Given the description of an element on the screen output the (x, y) to click on. 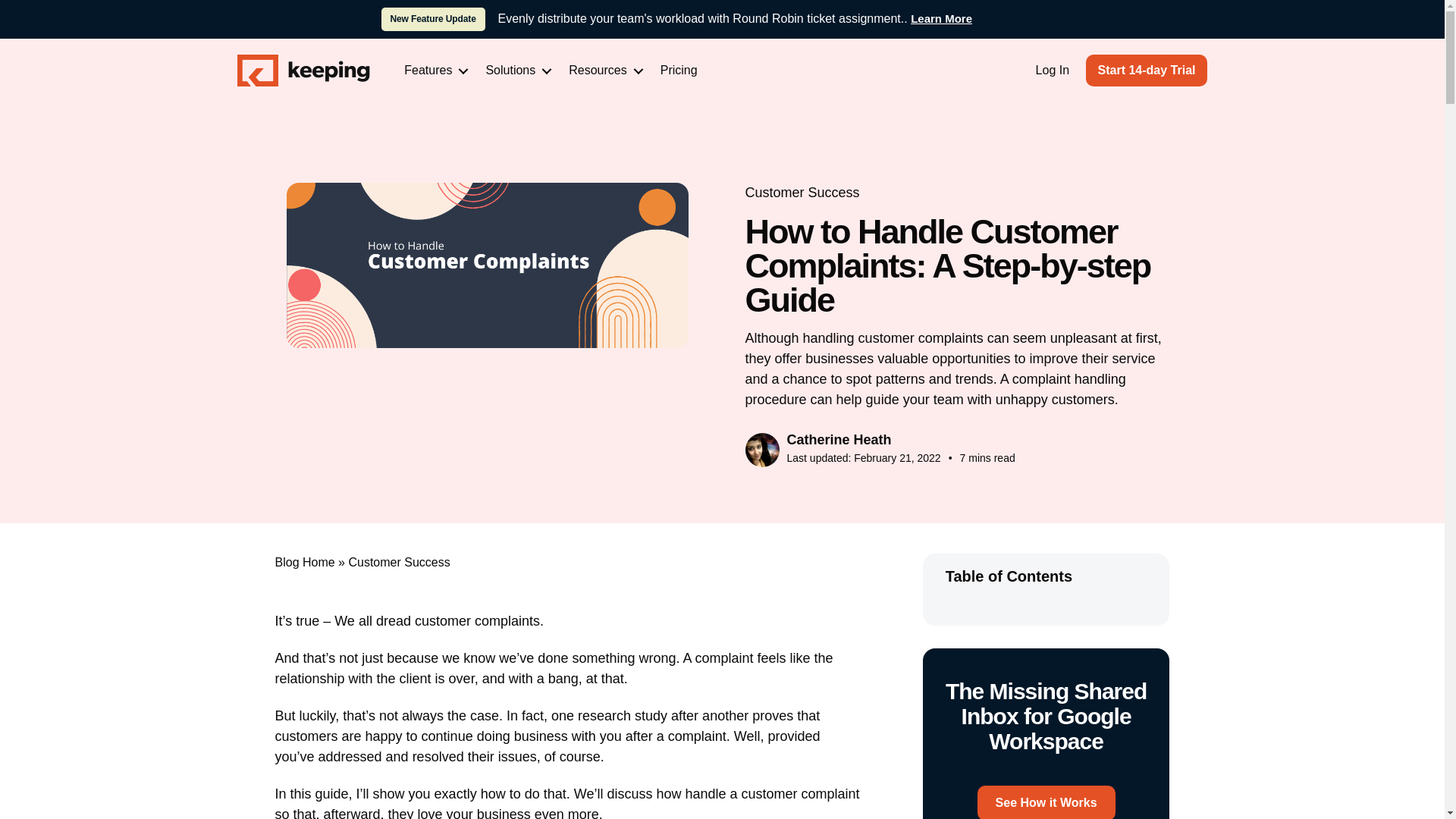
Features (433, 70)
New Feature Update (432, 19)
Learn More (941, 18)
How to Handle Customer Complaints (487, 265)
keeping-logo (302, 70)
Solutions (515, 70)
